Given the description of an element on the screen output the (x, y) to click on. 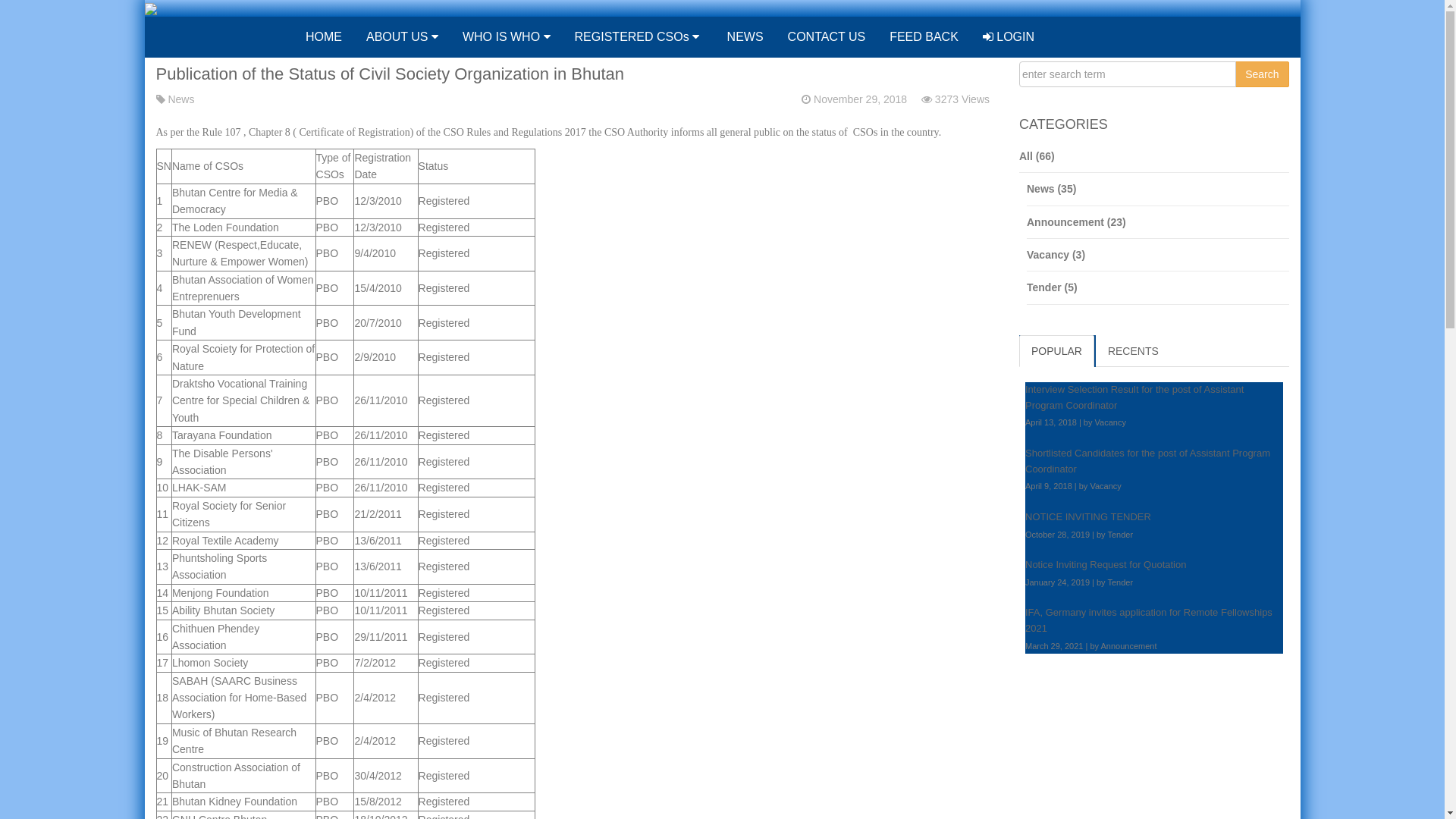
ABOUT US Element type: text (402, 36)
POPULAR Element type: text (1056, 351)
Vacancy (3) Element type: text (1157, 254)
REGISTERED CSOs Element type: text (637, 36)
NOTICE INVITING TENDER Element type: text (1088, 516)
 LOGIN Element type: text (1008, 36)
IFA, Germany invites application for Remote Fellowships 2021 Element type: text (1148, 619)
CONTACT US Element type: text (826, 36)
Search Element type: text (1261, 74)
Notice Inviting Request for Quotation Element type: text (1105, 564)
FEED BACK Element type: text (923, 36)
 HOME Element type: text (321, 36)
Tender (5) Element type: text (1157, 287)
News (35) Element type: text (1157, 188)
All (66) Element type: text (1154, 156)
 NEWS Element type: text (743, 36)
RECENTS Element type: text (1132, 351)
WHO IS WHO Element type: text (506, 36)
Announcement (23) Element type: text (1157, 222)
